Given the description of an element on the screen output the (x, y) to click on. 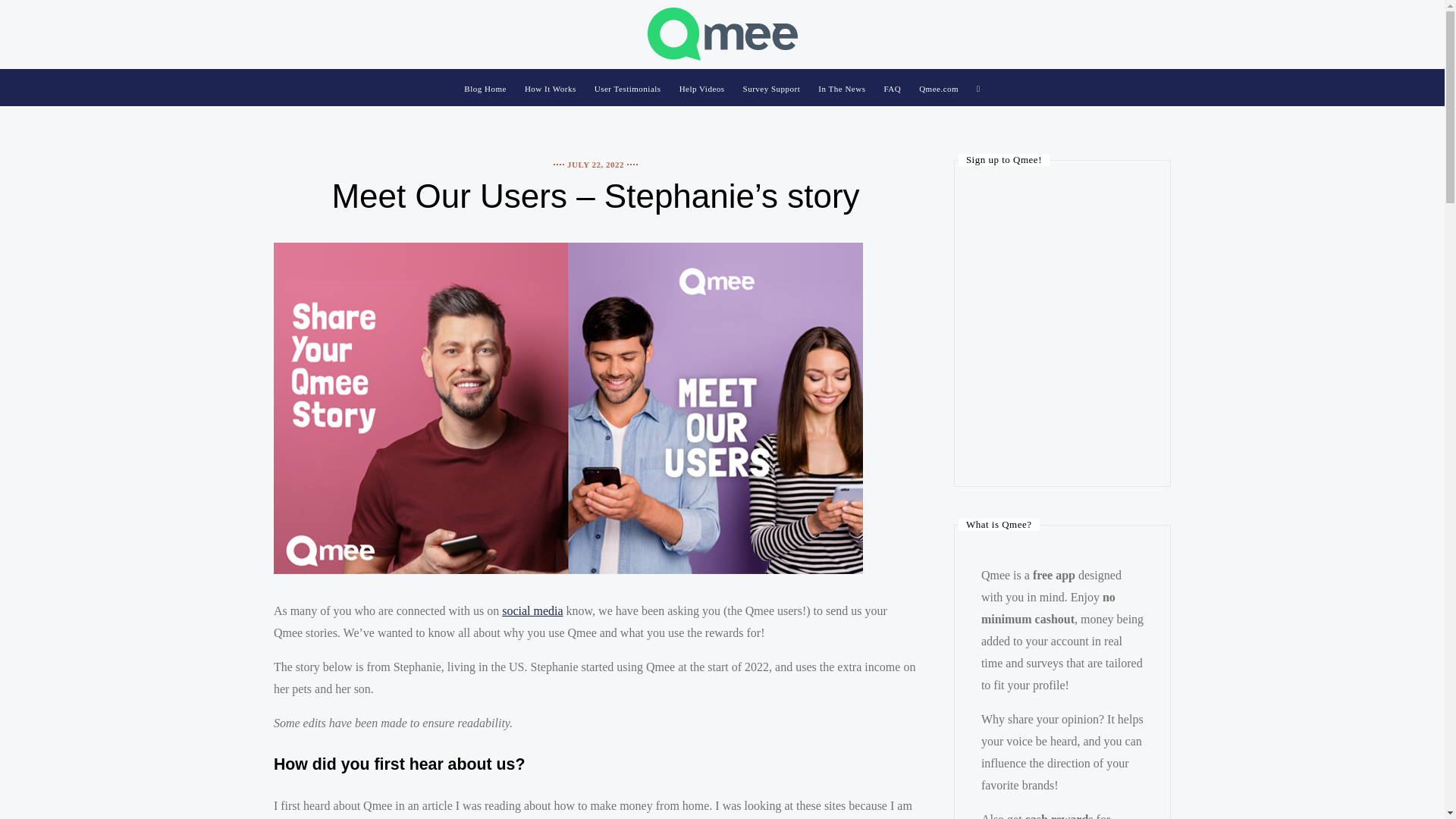
Help Videos (702, 88)
Blog Home (485, 88)
User Testimonials (627, 88)
social media (532, 610)
In The News (841, 88)
Qmee.com (938, 88)
FAQ (892, 88)
Survey Support (771, 88)
How It Works (550, 88)
